Given the description of an element on the screen output the (x, y) to click on. 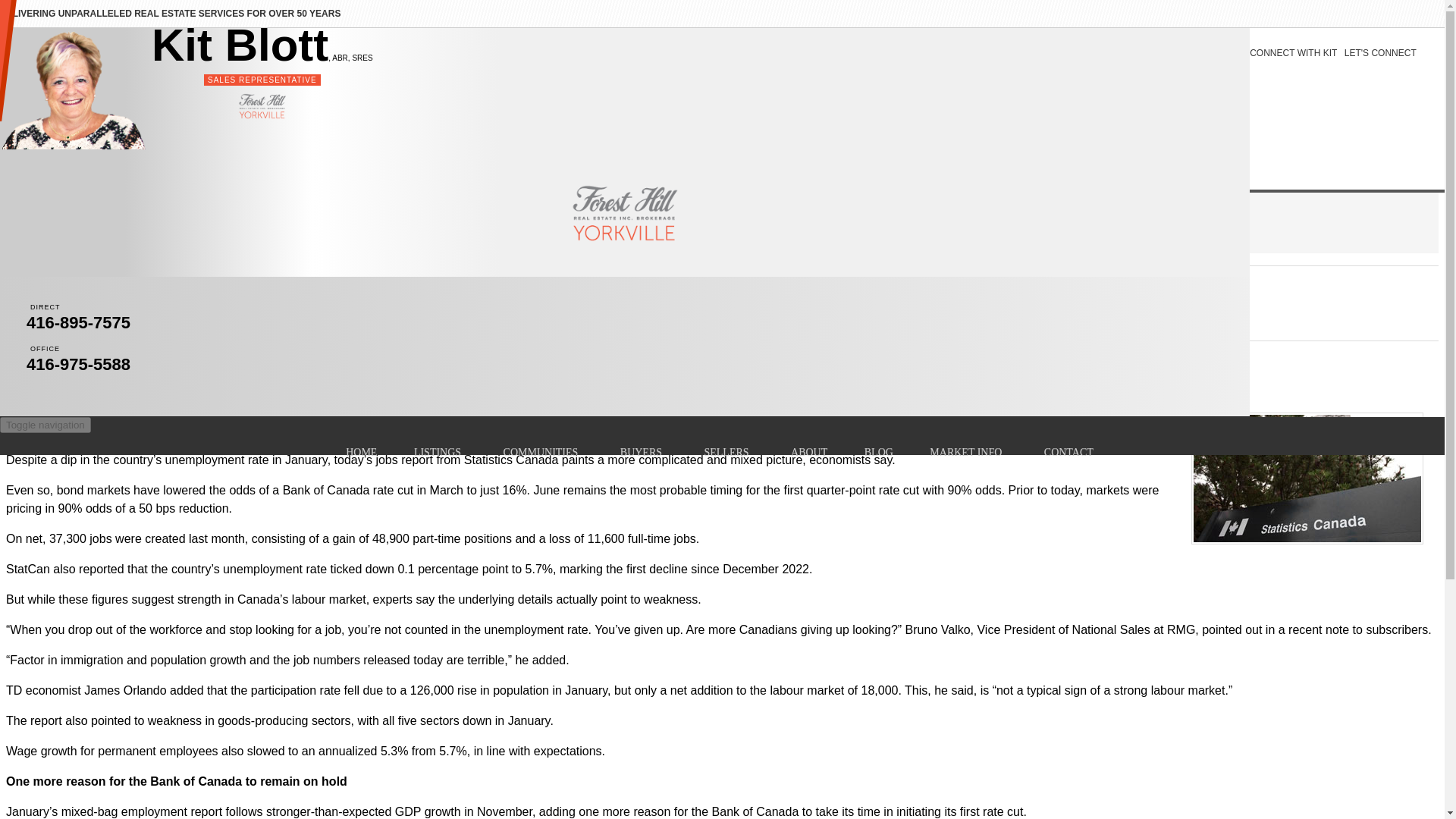
Toggle navigation (45, 424)
Home (26, 232)
COMMUNITIES (542, 452)
Home Page (26, 232)
ABOUT (809, 452)
HOME (361, 452)
BLOG (878, 452)
SELLERS (728, 452)
BUYERS (644, 452)
MARKET INFO (967, 452)
